Given the description of an element on the screen output the (x, y) to click on. 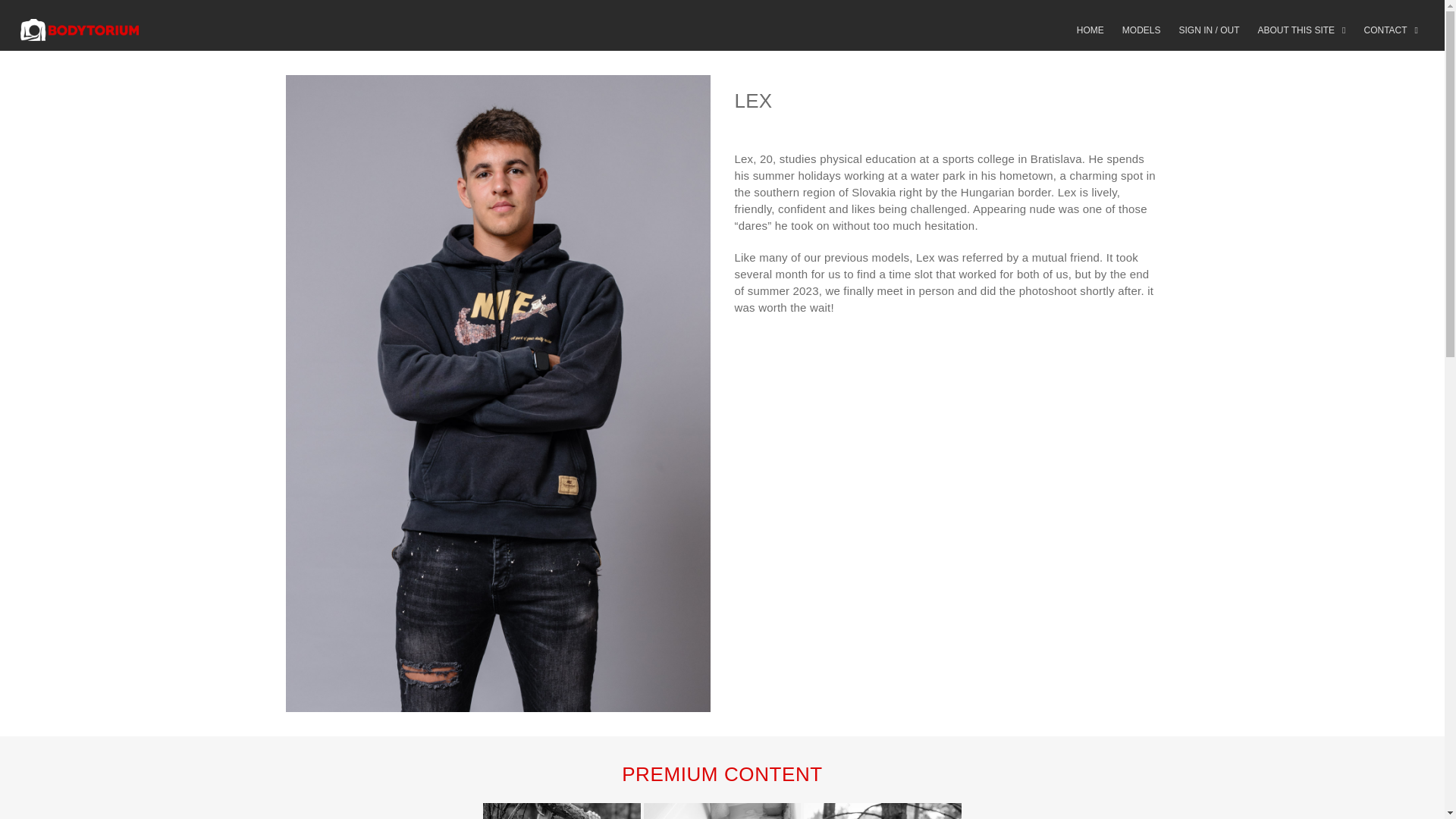
MODELS (1141, 29)
HOME (1090, 29)
ABOUT THIS SITE (1301, 29)
CONTACT (1390, 29)
